Given the description of an element on the screen output the (x, y) to click on. 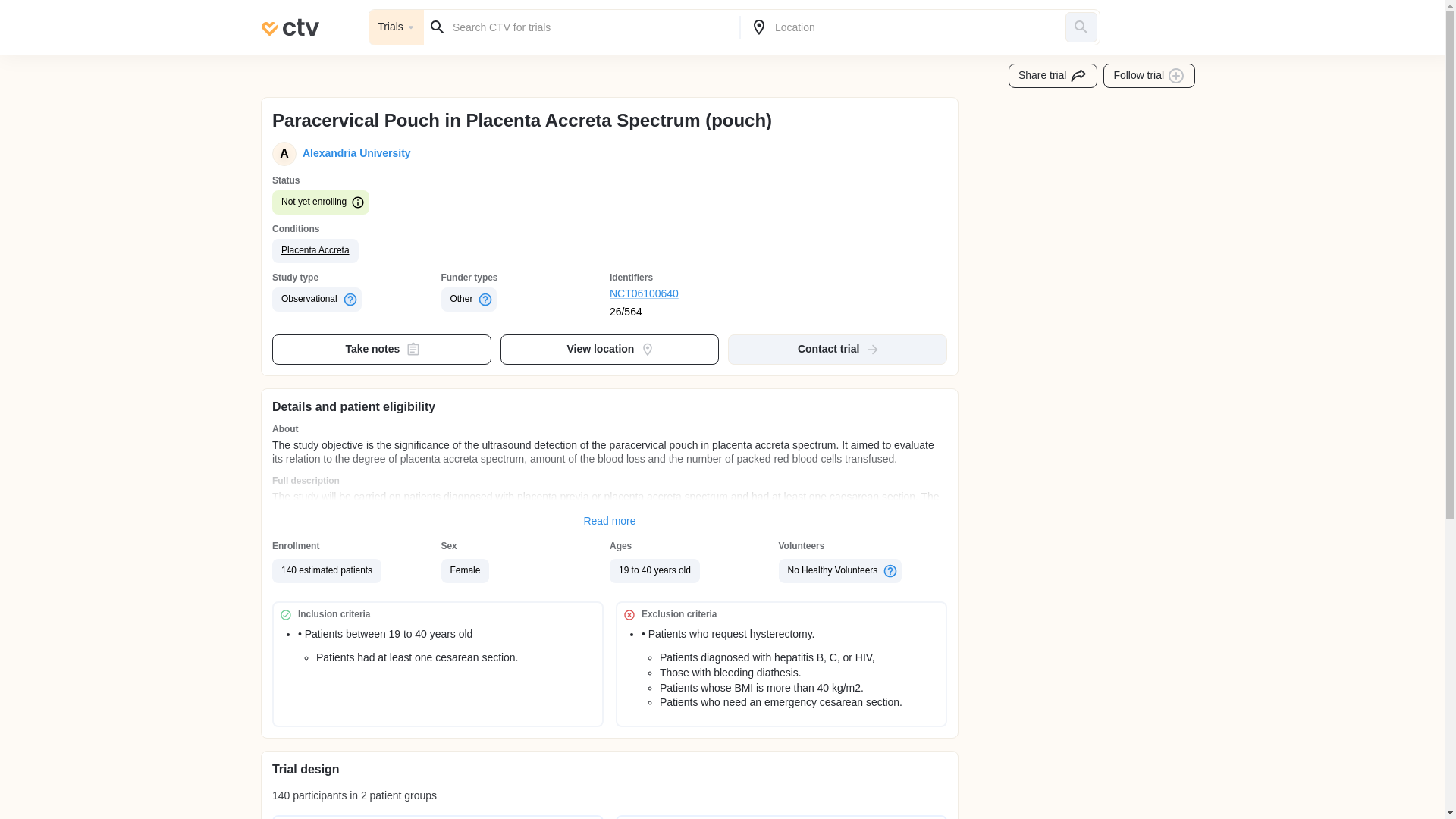
View location (609, 349)
Alexandria University (353, 153)
NCT06100640 (694, 294)
Follow trial (1149, 75)
Contact trial (837, 349)
Take notes (382, 349)
Trials (396, 27)
Read more (609, 521)
Share trial (1053, 75)
